Given the description of an element on the screen output the (x, y) to click on. 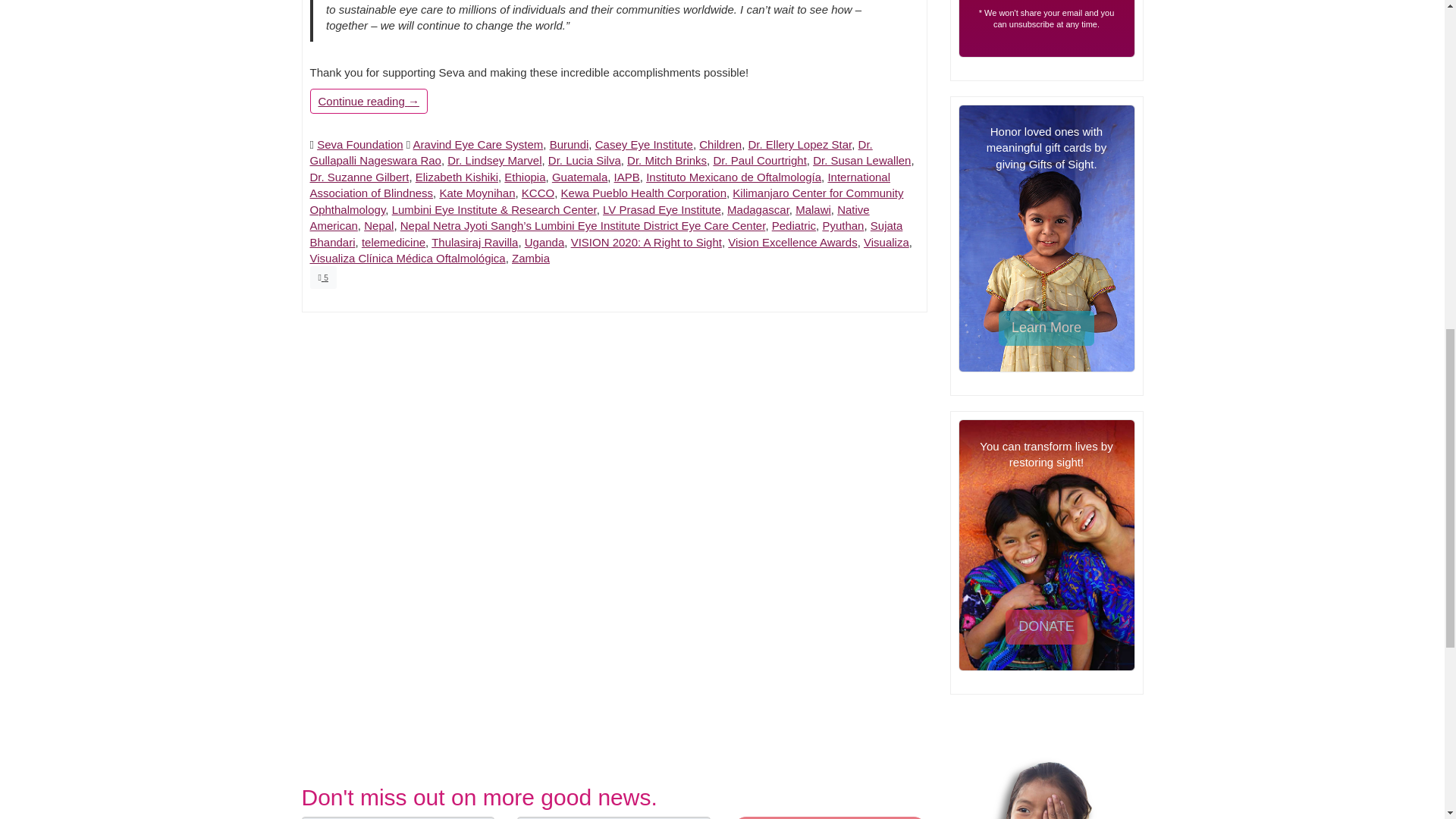
Tagged (408, 144)
Posted in (310, 144)
Aravind Eye Care System (478, 144)
Burundi (569, 144)
Seva Foundation (360, 144)
